Given the description of an element on the screen output the (x, y) to click on. 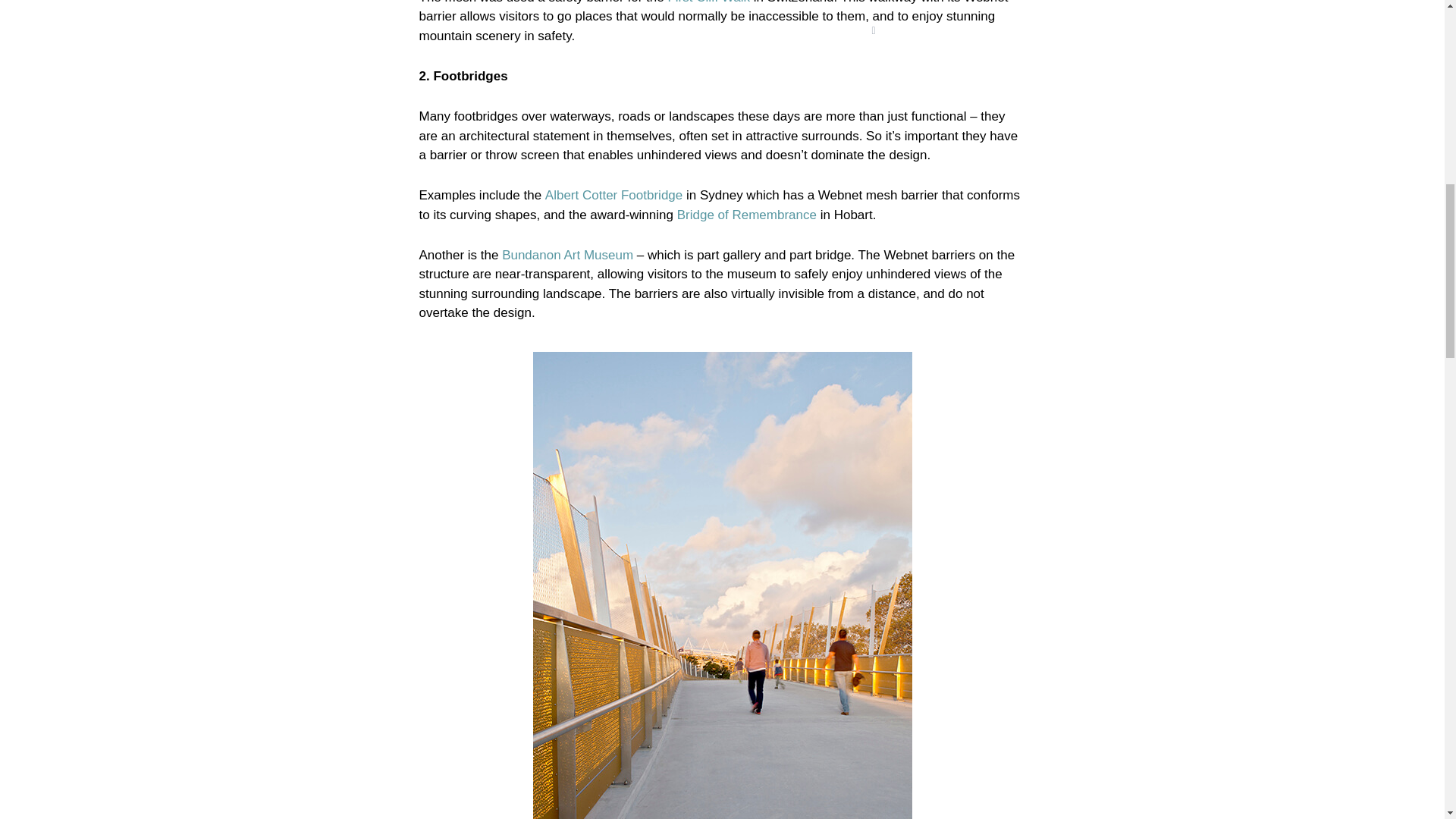
Albert Cotter Footbridge (613, 195)
First Cliff Walk (707, 2)
Bundanon Art Museum (567, 255)
Bridge of Remembrance (746, 214)
